Given the description of an element on the screen output the (x, y) to click on. 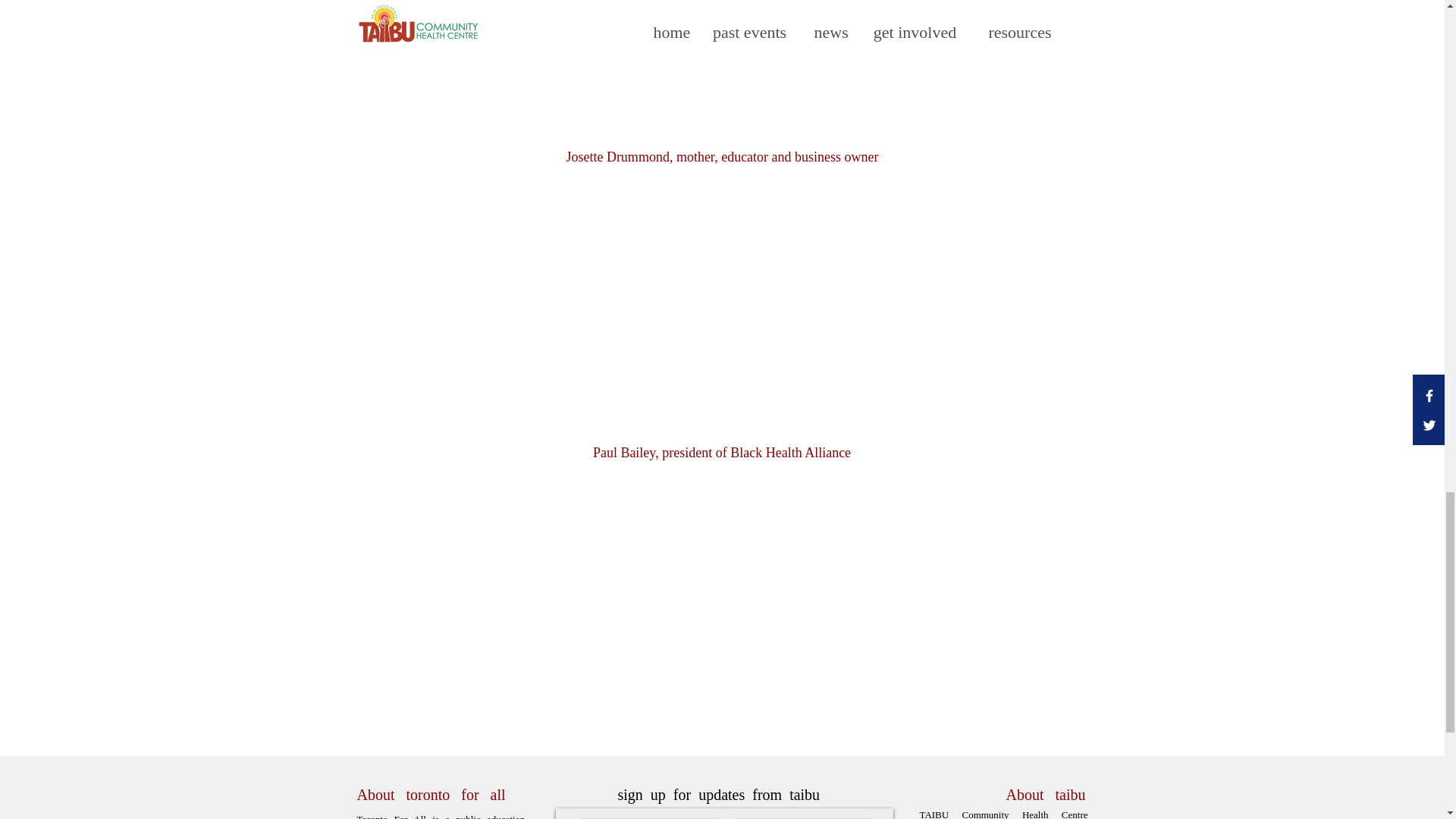
Embedded Content (722, 599)
Embedded Content (722, 59)
Embedded Content (722, 304)
